Given the description of an element on the screen output the (x, y) to click on. 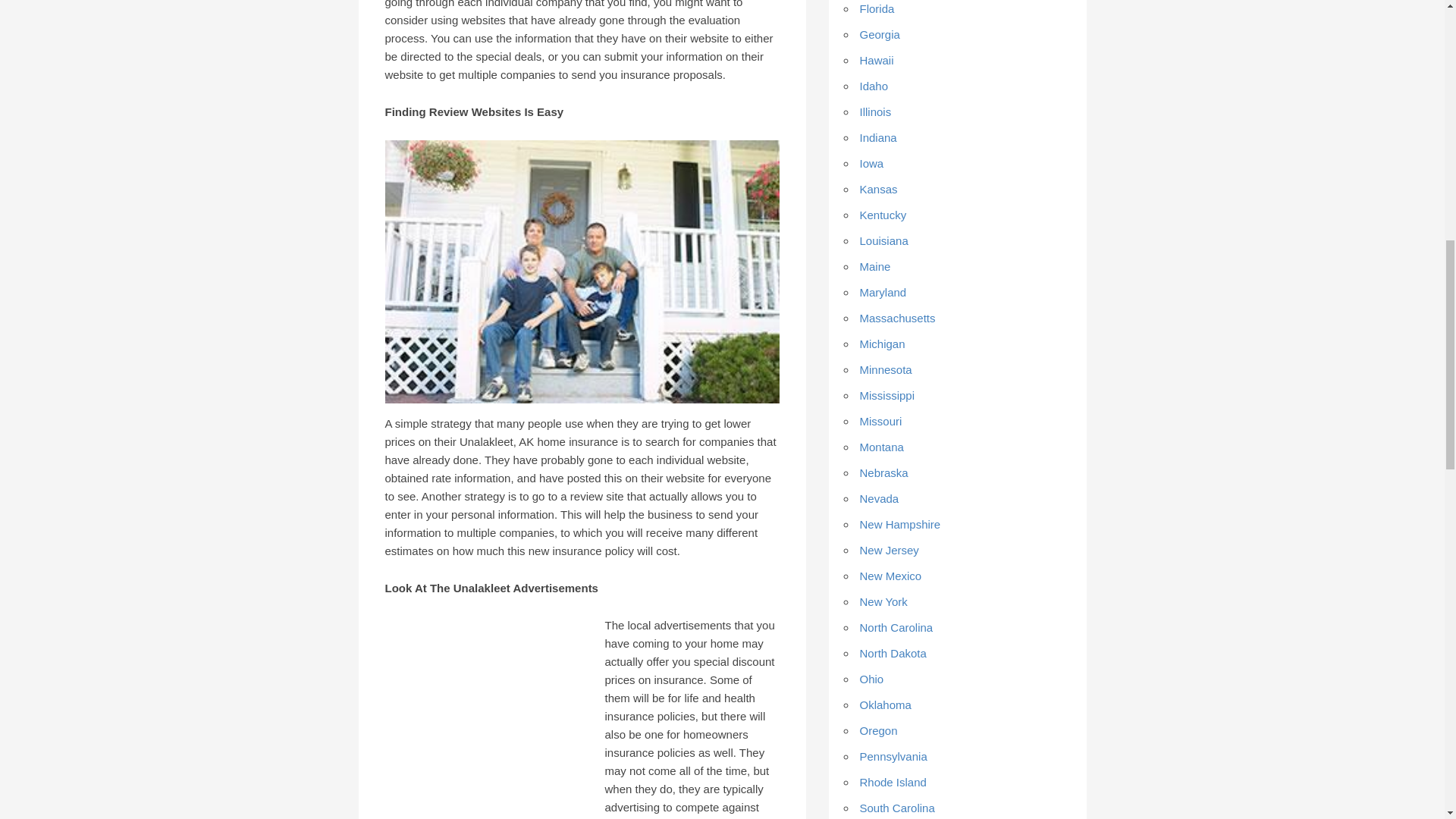
Mississippi (887, 395)
Minnesota (886, 369)
Kansas (879, 188)
Iowa (871, 163)
Maryland (883, 291)
Illinois (875, 111)
Missouri (881, 420)
Idaho (874, 85)
Michigan (882, 343)
Massachusetts (898, 318)
